Given the description of an element on the screen output the (x, y) to click on. 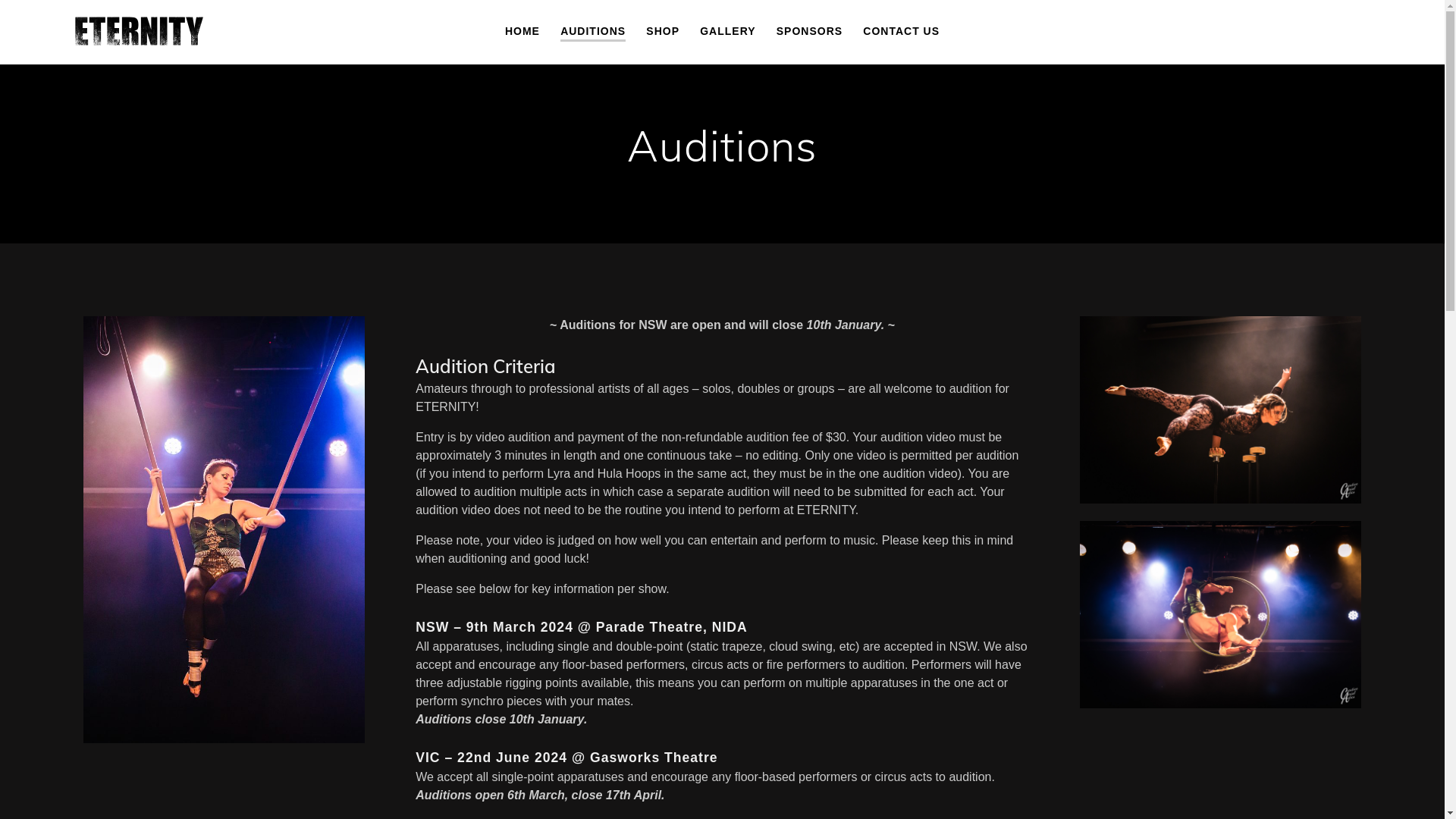
HOME Element type: text (522, 30)
GALLERY Element type: text (727, 30)
SPONSORS Element type: text (809, 30)
SHOP Element type: text (662, 30)
CONTACT US Element type: text (900, 30)
AUDITIONS Element type: text (592, 31)
